Given the description of an element on the screen output the (x, y) to click on. 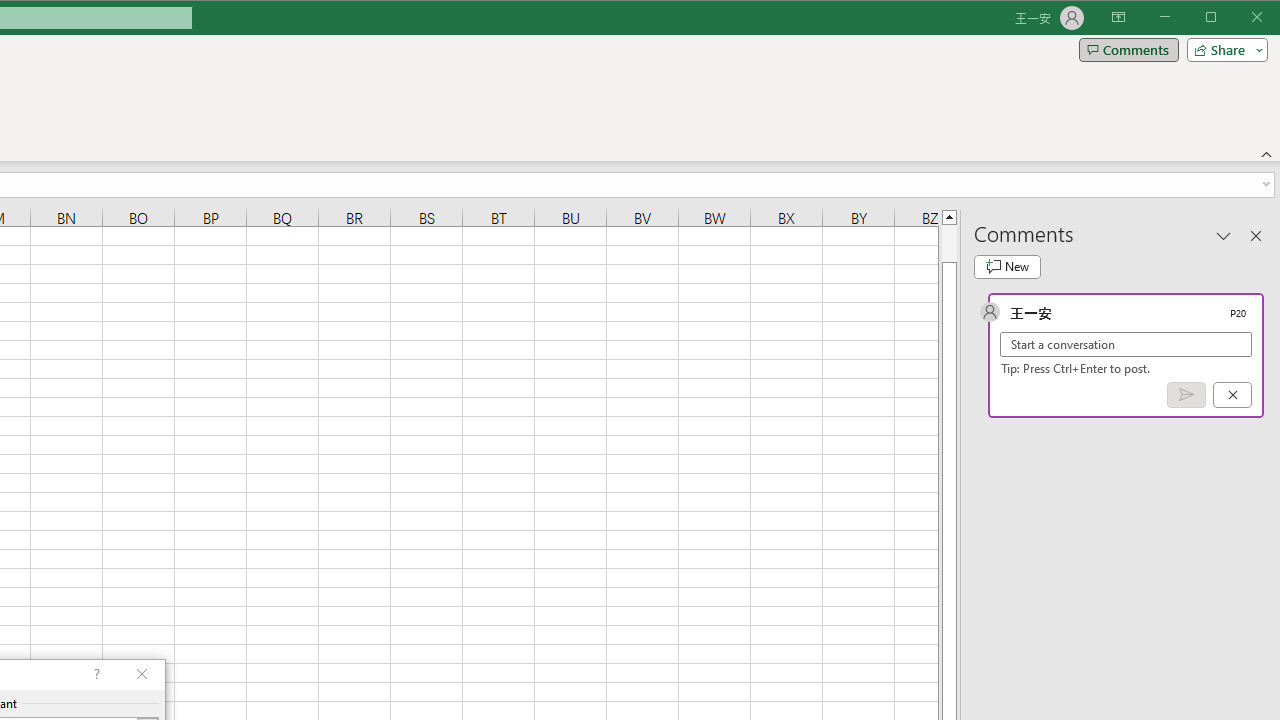
Maximize (1239, 18)
